Given the description of an element on the screen output the (x, y) to click on. 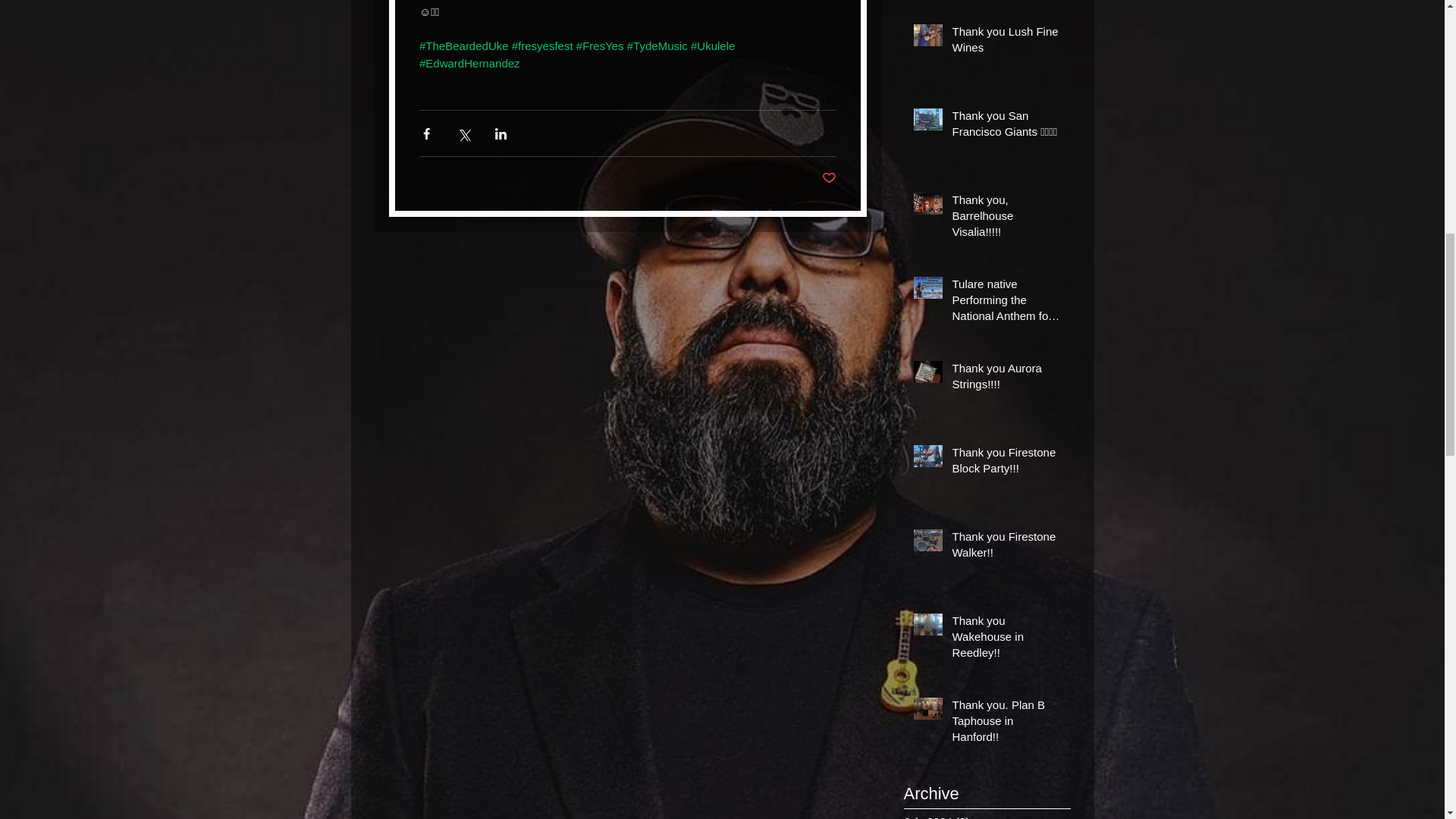
Thank you Wakehouse in Reedley!! (1006, 639)
Post not marked as liked (828, 178)
Thank you Firestone Walker!! (1006, 547)
Thank you. Plan B Taphouse in Hanford!! (1006, 723)
Thank you Lush Fine Wines (1006, 42)
Thank you Firestone Block Party!!! (1006, 463)
Thank you, Barrelhouse Visalia!!!!! (1006, 218)
Thank you Aurora Strings!!!! (1006, 379)
